Given the description of an element on the screen output the (x, y) to click on. 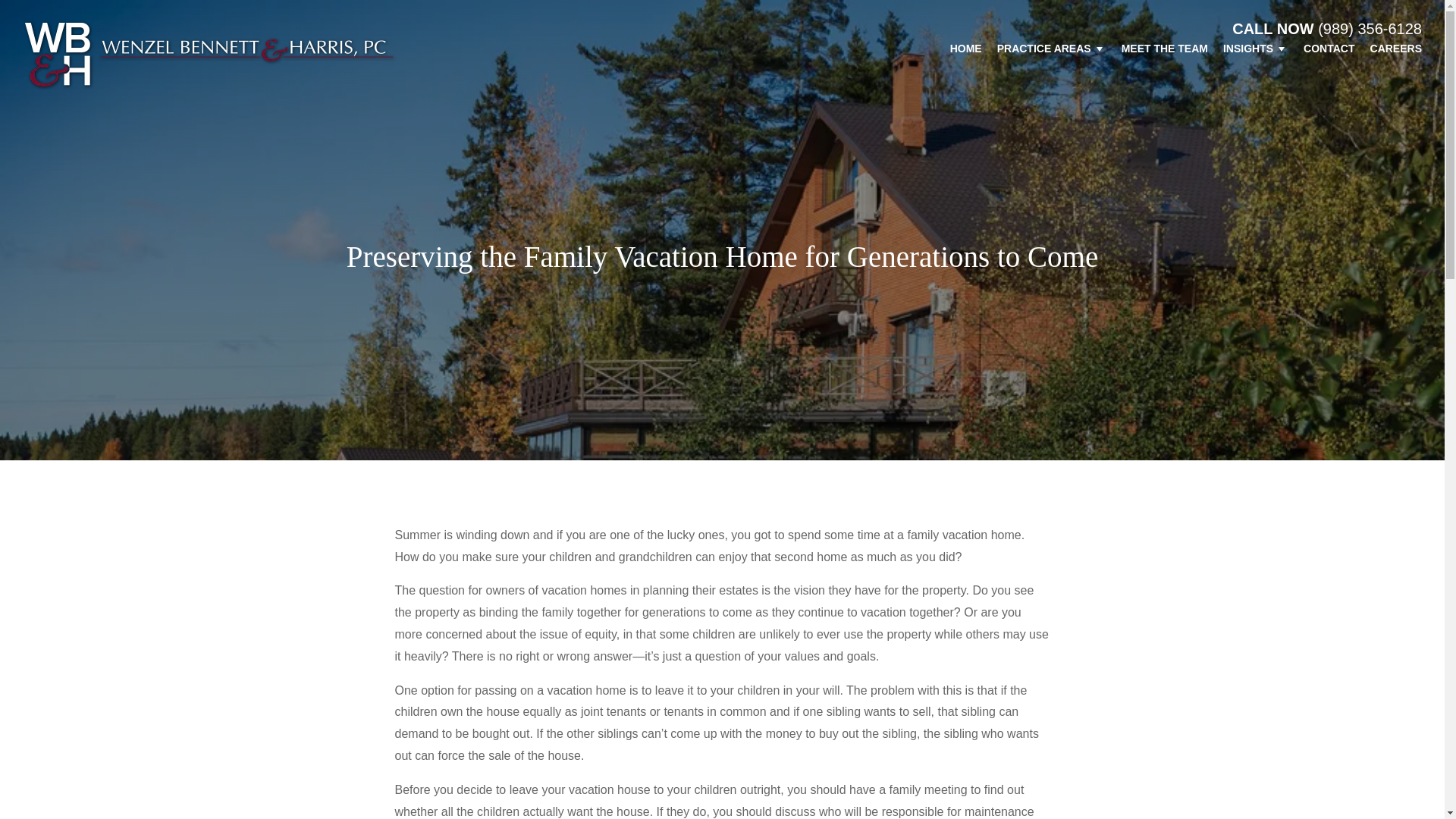
PRACTICE AREAS (1043, 51)
INSIGHTS (1248, 51)
CAREERS (1388, 51)
HOME (957, 51)
CONTACT (1321, 51)
MEET THE TEAM (1157, 51)
